Given the description of an element on the screen output the (x, y) to click on. 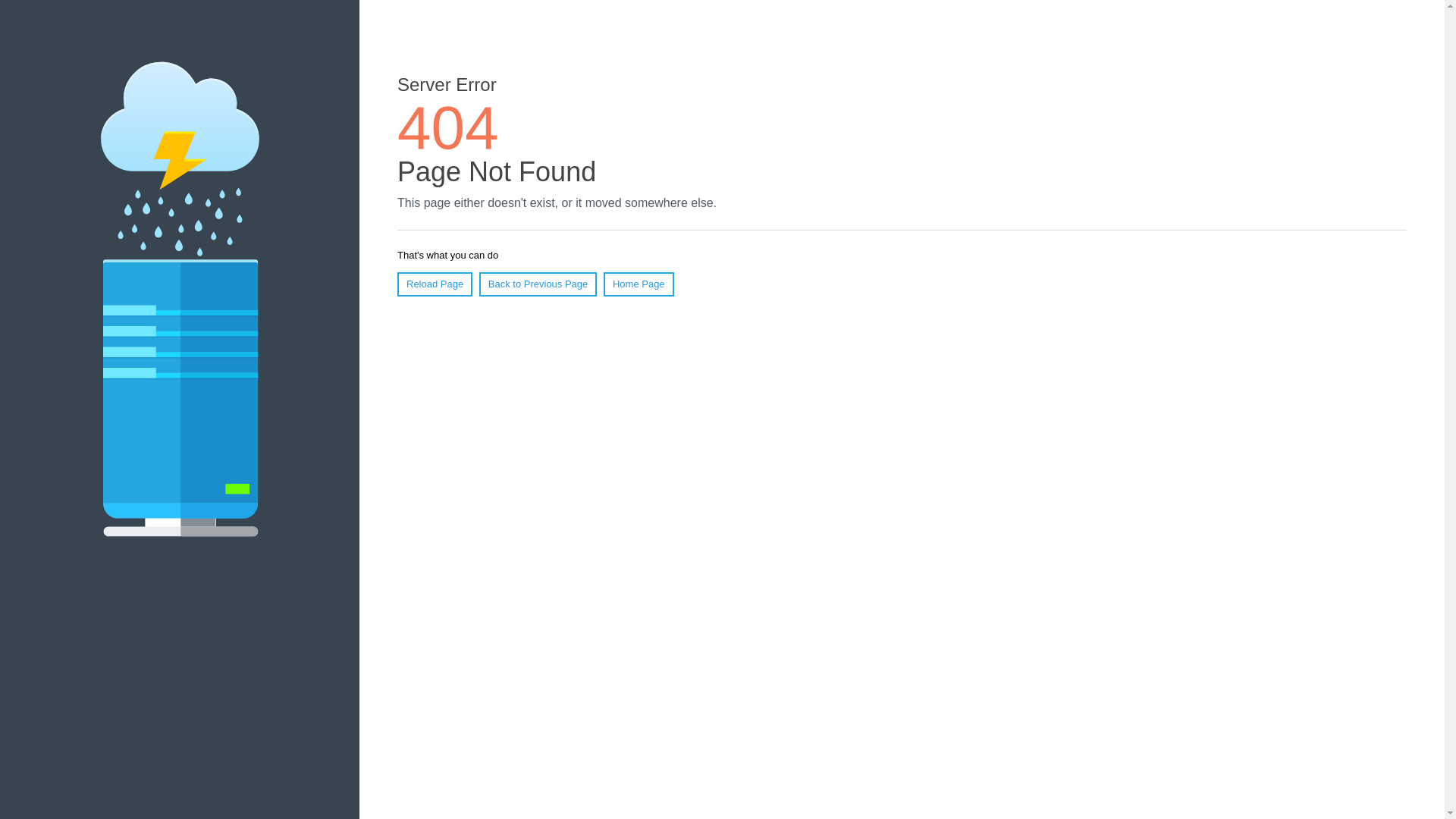
Reload Page Element type: text (434, 284)
Back to Previous Page Element type: text (538, 284)
Home Page Element type: text (638, 284)
